Given the description of an element on the screen output the (x, y) to click on. 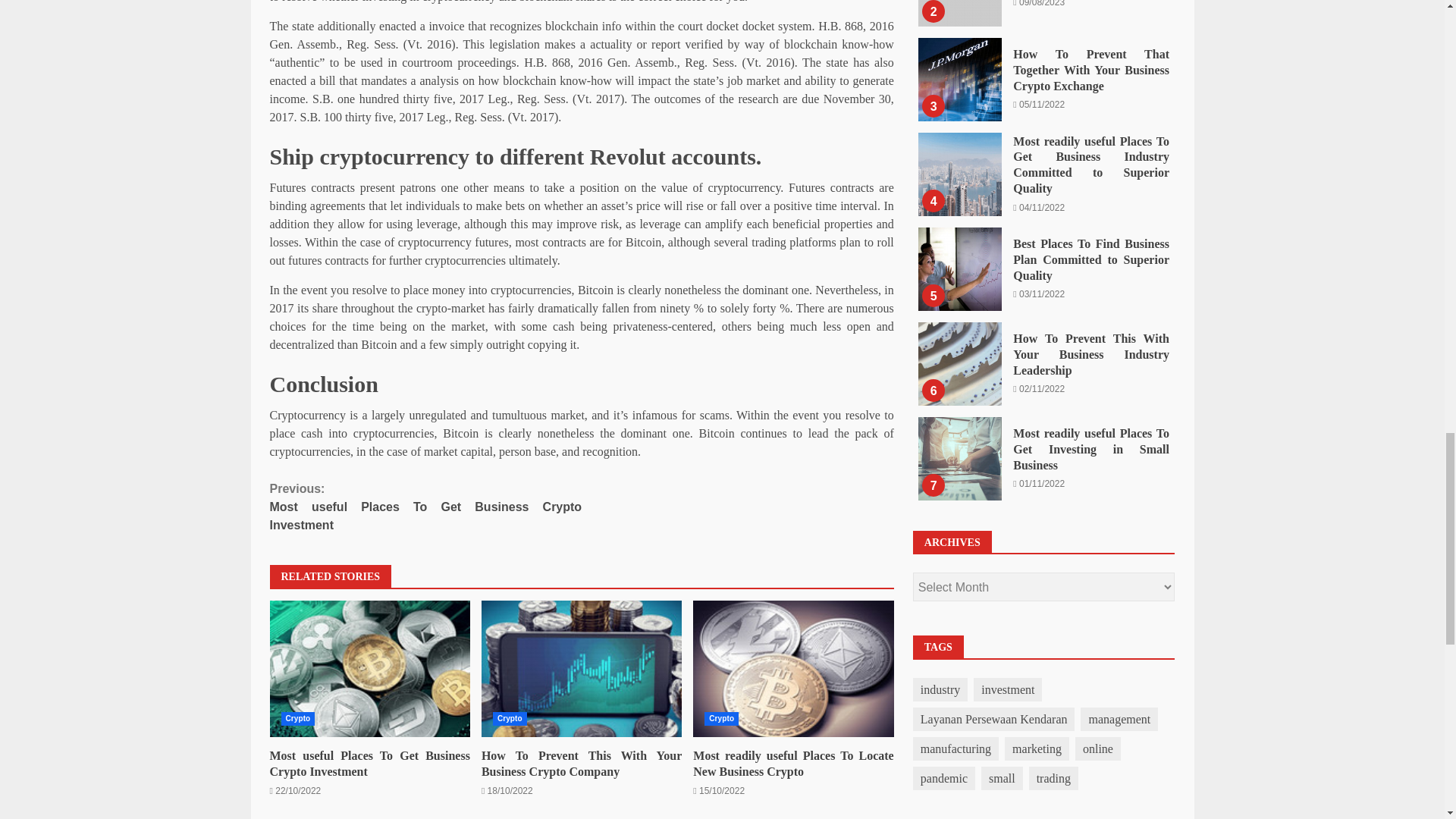
How To Prevent This With Your Business Crypto Company (581, 668)
Most useful Places To Get Business Crypto Investment (369, 668)
Crypto (721, 718)
Most useful Places To Get Business Crypto Investment (369, 763)
Crypto (510, 718)
Most useful Places To Get Business Crypto Investment (369, 668)
Most readily useful Places To Locate New Business Crypto (793, 763)
How To Prevent This With Your Business Crypto Company (581, 763)
Crypto (297, 718)
Most readily useful Places To Locate New Business Crypto (793, 668)
How To Prevent This With Your Business Crypto Company (581, 668)
Most readily useful Places To Locate New Business Crypto (793, 668)
